Given the description of an element on the screen output the (x, y) to click on. 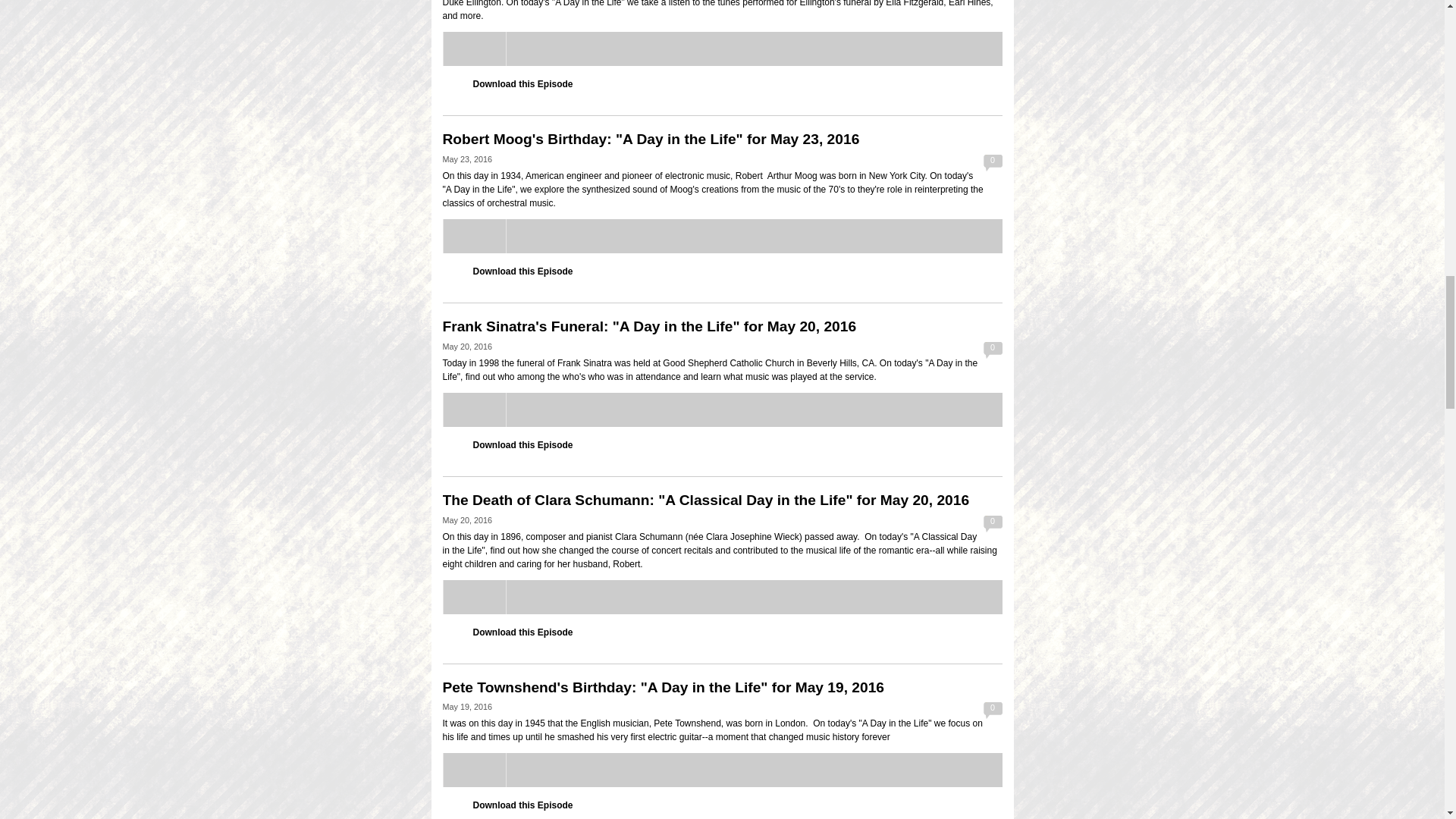
Libsyn Player (722, 48)
Libsyn Player (722, 236)
Libsyn Player (722, 596)
Libsyn Player (722, 769)
Libsyn Player (722, 409)
